Given the description of an element on the screen output the (x, y) to click on. 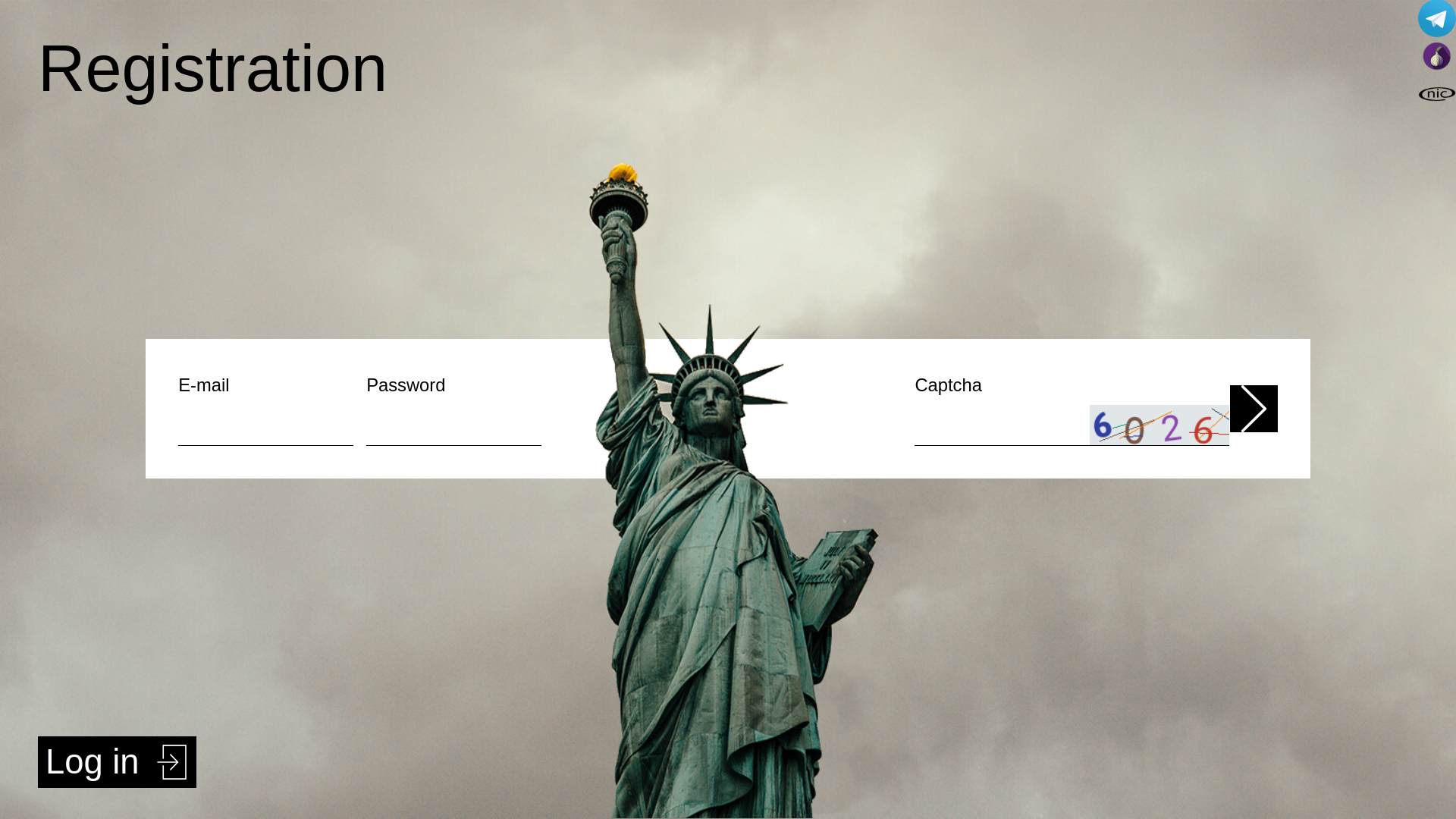
Log in Element type: text (116, 761)
